Given the description of an element on the screen output the (x, y) to click on. 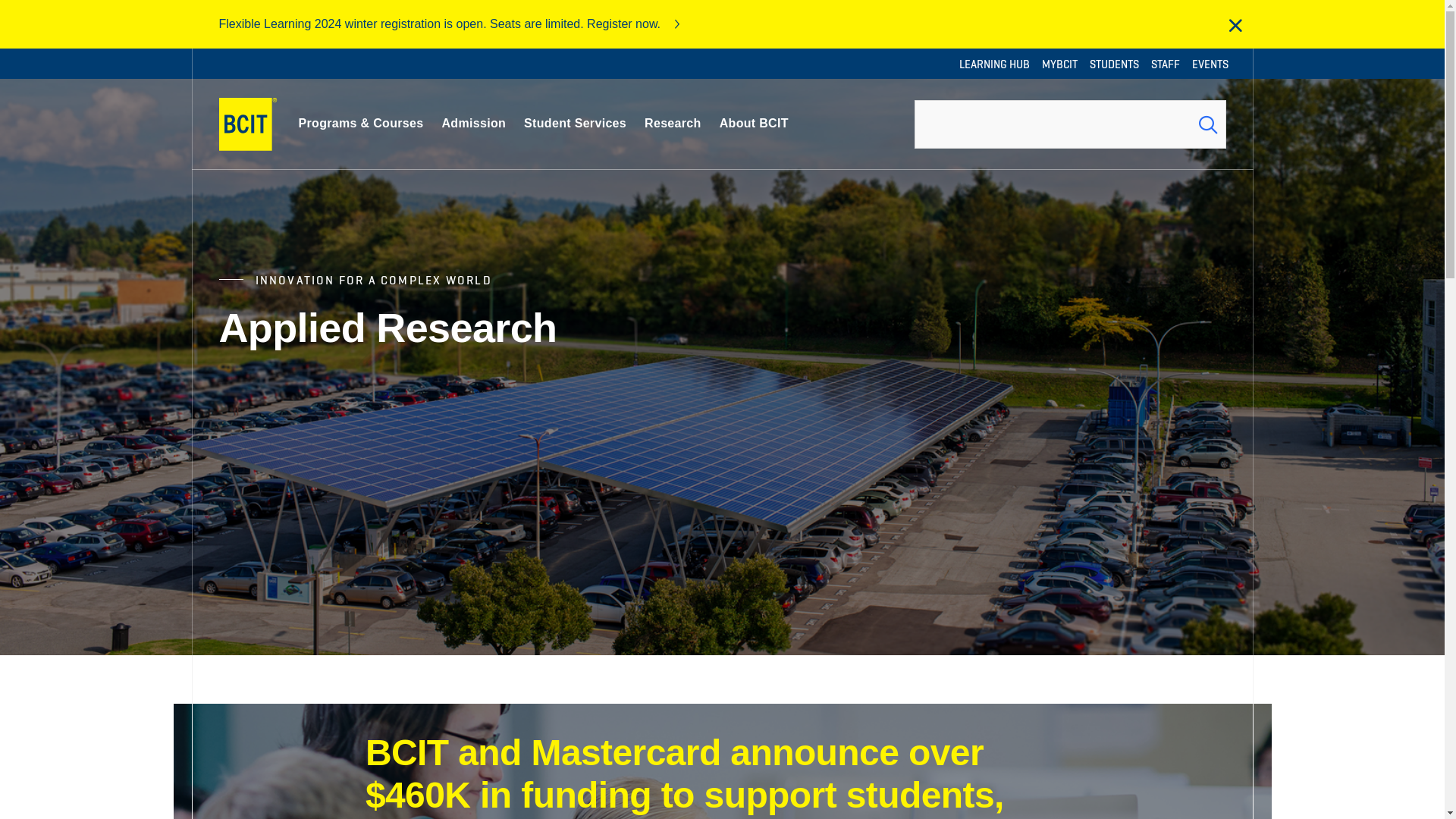
Research Element type: text (672, 124)
About BCIT Element type: text (753, 124)
Programs & Courses Element type: text (360, 124)
STUDENTS Element type: text (1113, 63)
STAFF Element type: text (1165, 63)
EVENTS Element type: text (1210, 63)
LEARNING HUB Element type: text (993, 63)
Student Services Element type: text (574, 124)
MYBCIT Element type: text (1059, 63)
Admission Element type: text (473, 124)
